Given the description of an element on the screen output the (x, y) to click on. 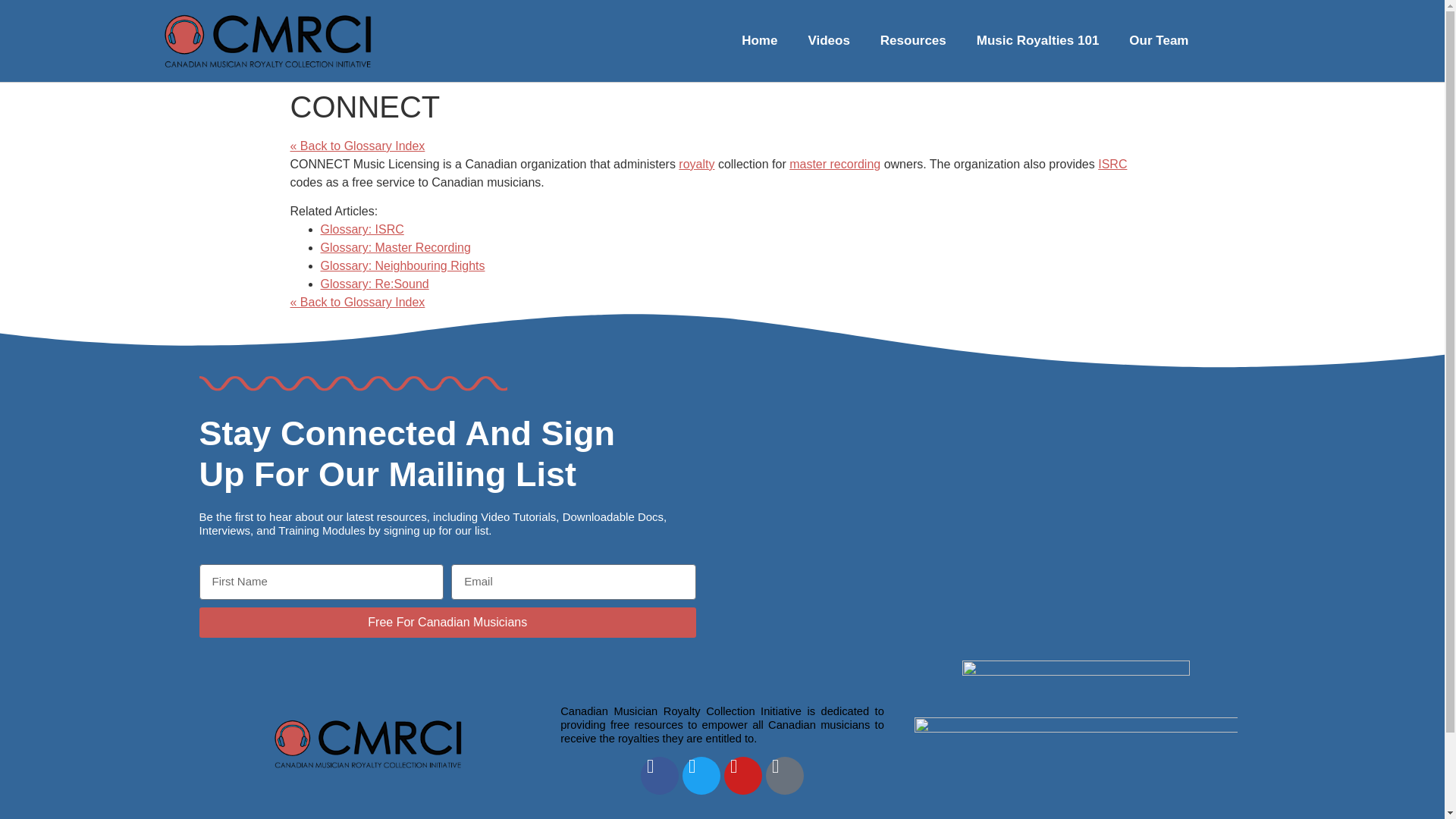
master recording (834, 164)
Home (759, 40)
ISRC (1111, 164)
Music Royalties 101 (1037, 40)
Free For Canadian Musicians (446, 622)
Glossary: Re:Sound (374, 283)
Glossary: Neighbouring Rights (402, 265)
Resources (912, 40)
Videos (828, 40)
royalty (696, 164)
